Given the description of an element on the screen output the (x, y) to click on. 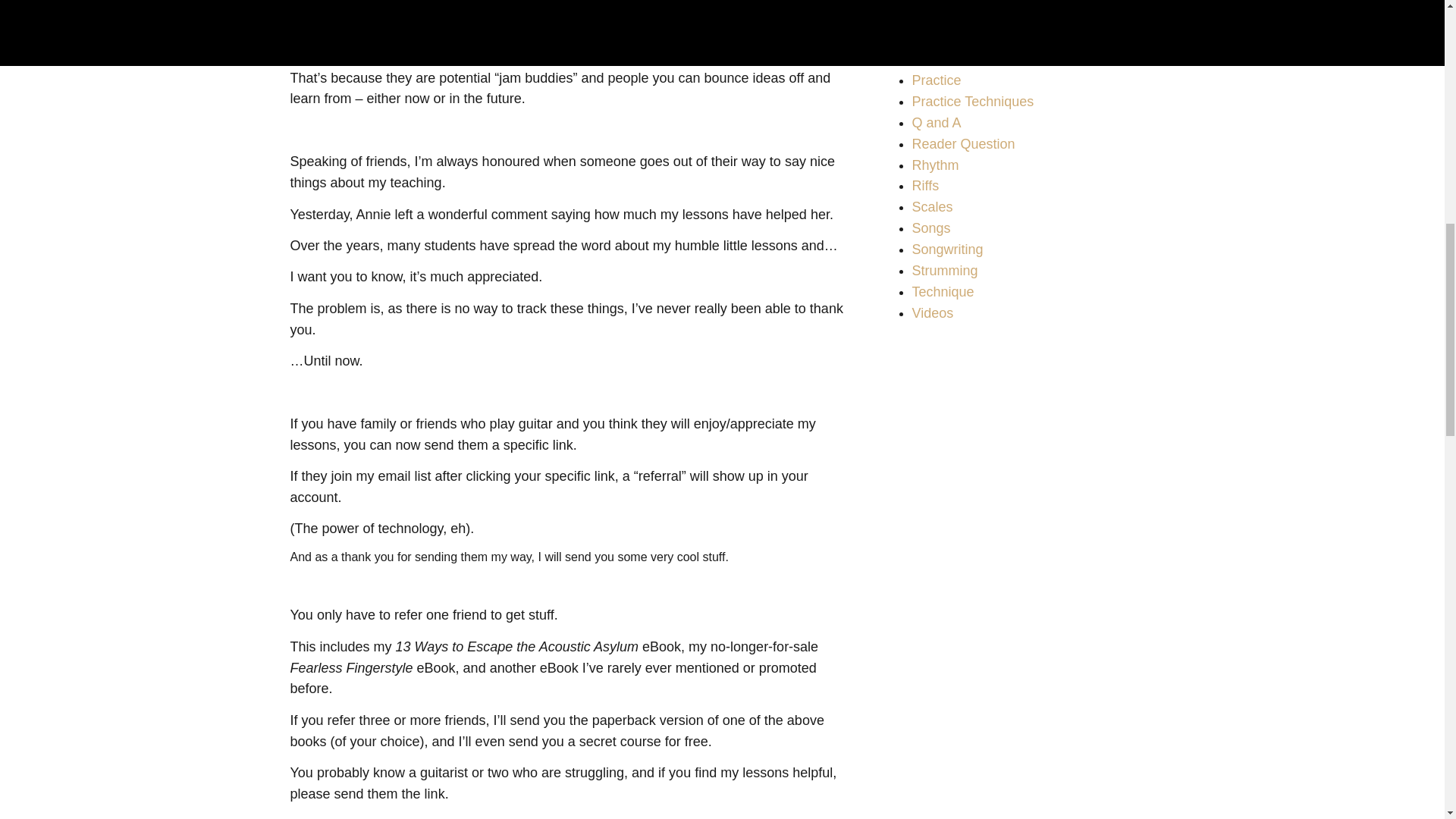
Rhythm (934, 165)
Misc. (927, 37)
Podcast (935, 58)
Songwriting (946, 249)
Songs (930, 227)
Gear (926, 1)
Q and A (935, 122)
Legends (937, 16)
Reader Question (962, 143)
Riffs (925, 185)
